Given the description of an element on the screen output the (x, y) to click on. 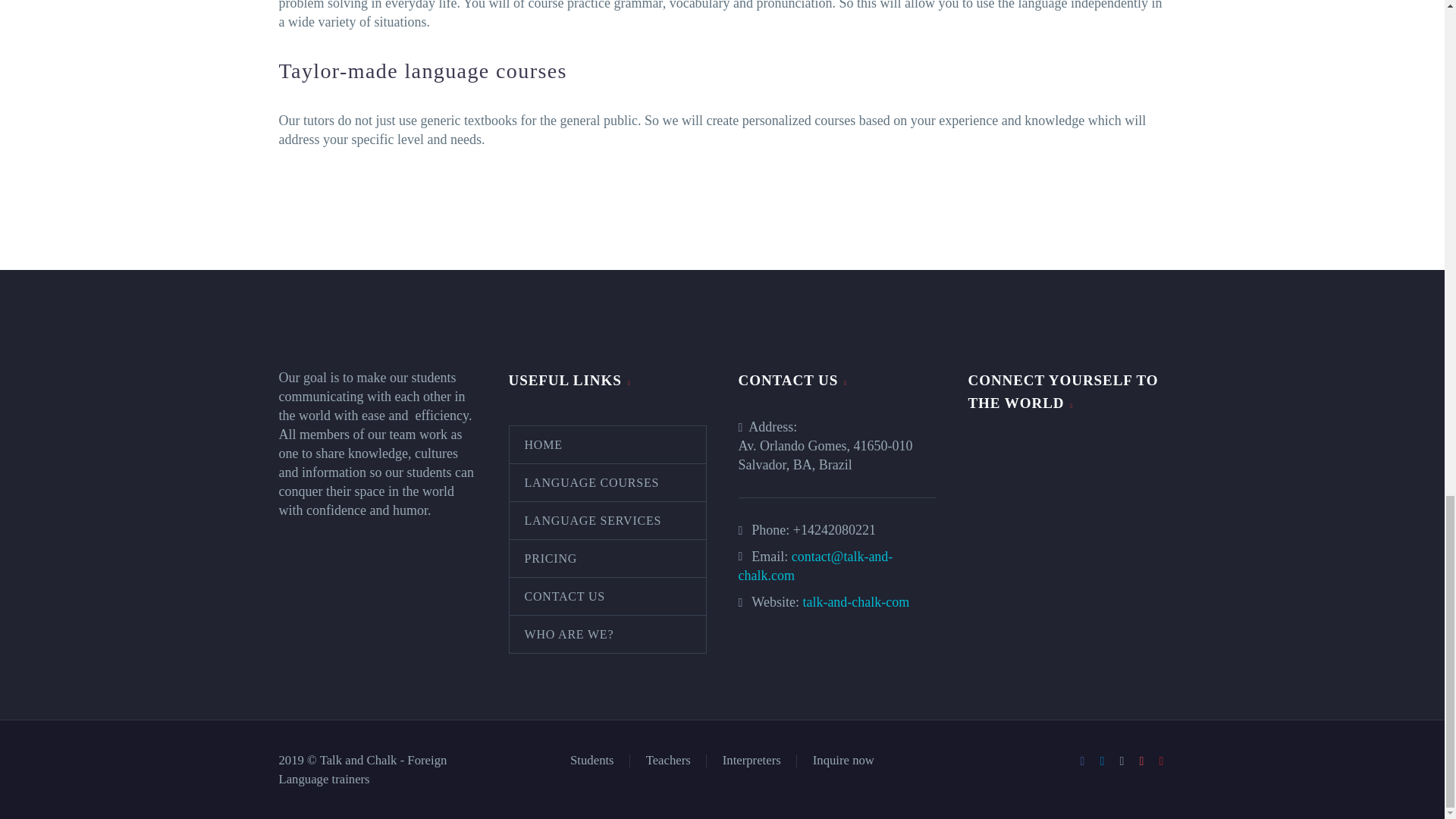
LinkedIn (1102, 761)
YouTube (1161, 761)
Facebook (1083, 761)
Twitter (1122, 761)
Pinterest (1141, 761)
